Given the description of an element on the screen output the (x, y) to click on. 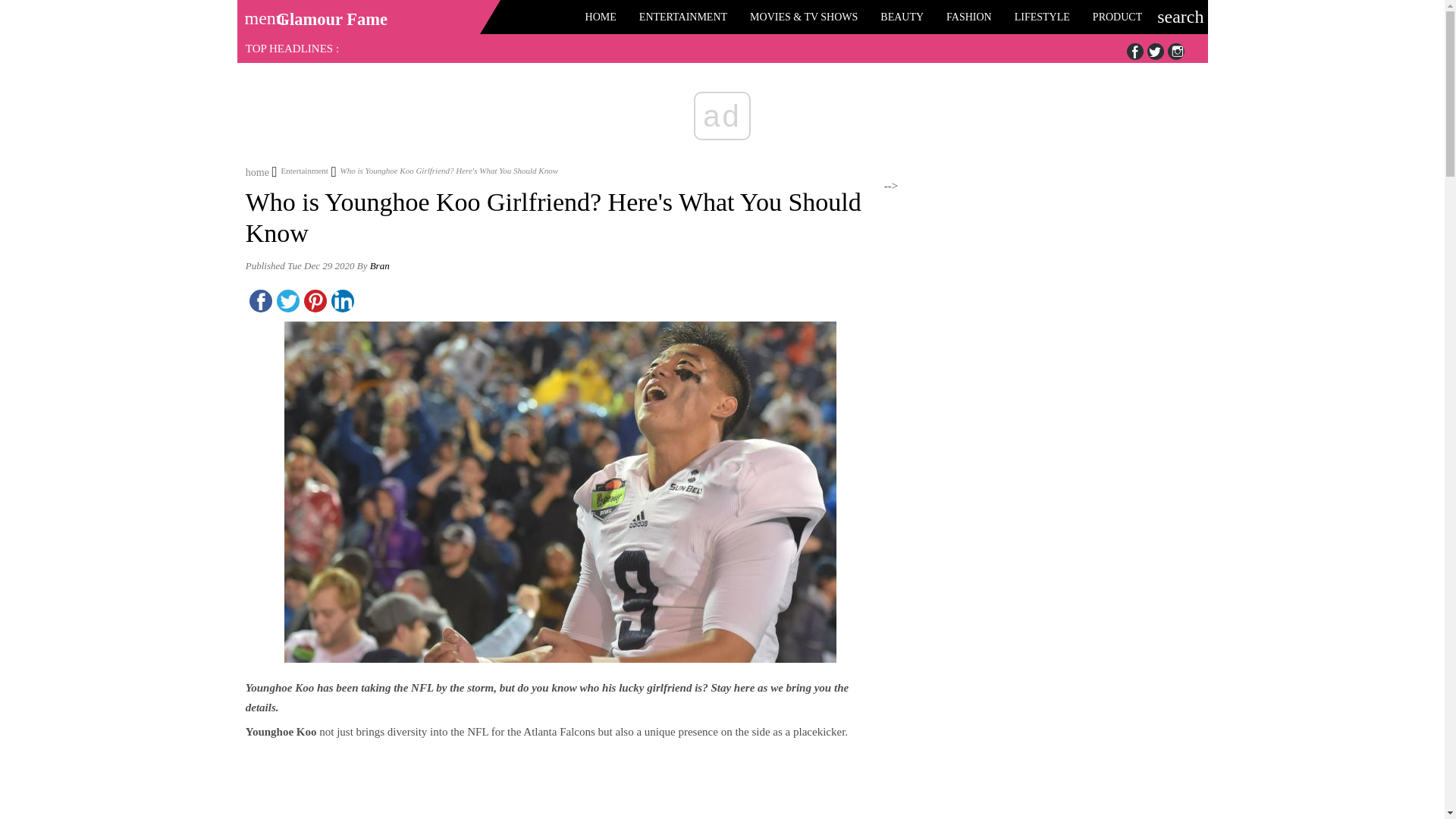
BEAUTY (901, 17)
home (257, 170)
LIFESTYLE (1042, 17)
FASHION (968, 17)
HOME (600, 17)
menu (259, 13)
Bran (379, 265)
PRODUCT (1117, 17)
ENTERTAINMENT (682, 17)
